Given the description of an element on the screen output the (x, y) to click on. 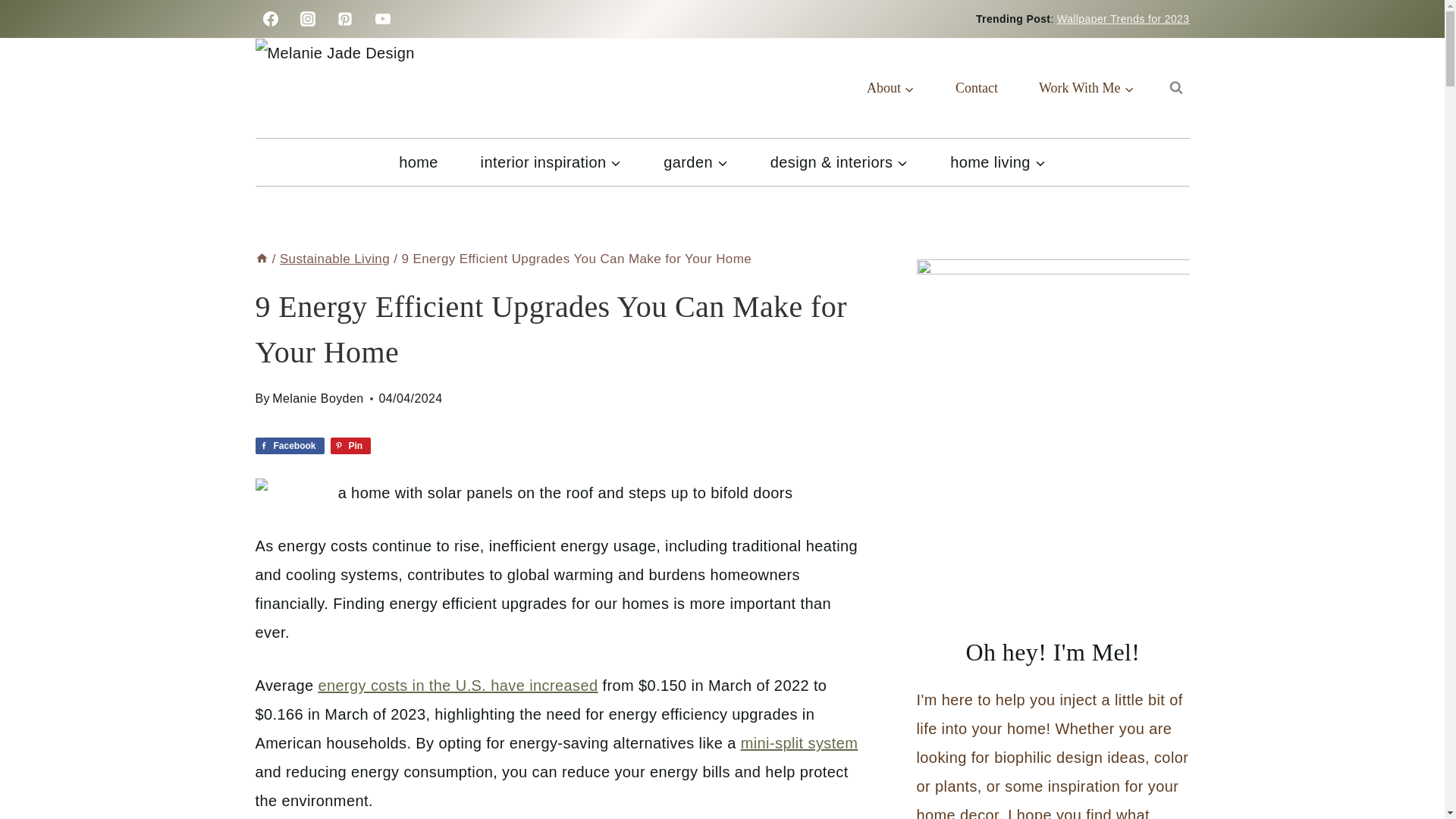
interior inspiration (551, 161)
home living (996, 161)
home (417, 161)
Wallpaper Trends for 2023 (1123, 19)
Share on Pinterest (350, 445)
garden (695, 161)
About (889, 87)
Home (260, 258)
Share on Facebook (288, 445)
Work With Me (1085, 87)
